Given the description of an element on the screen output the (x, y) to click on. 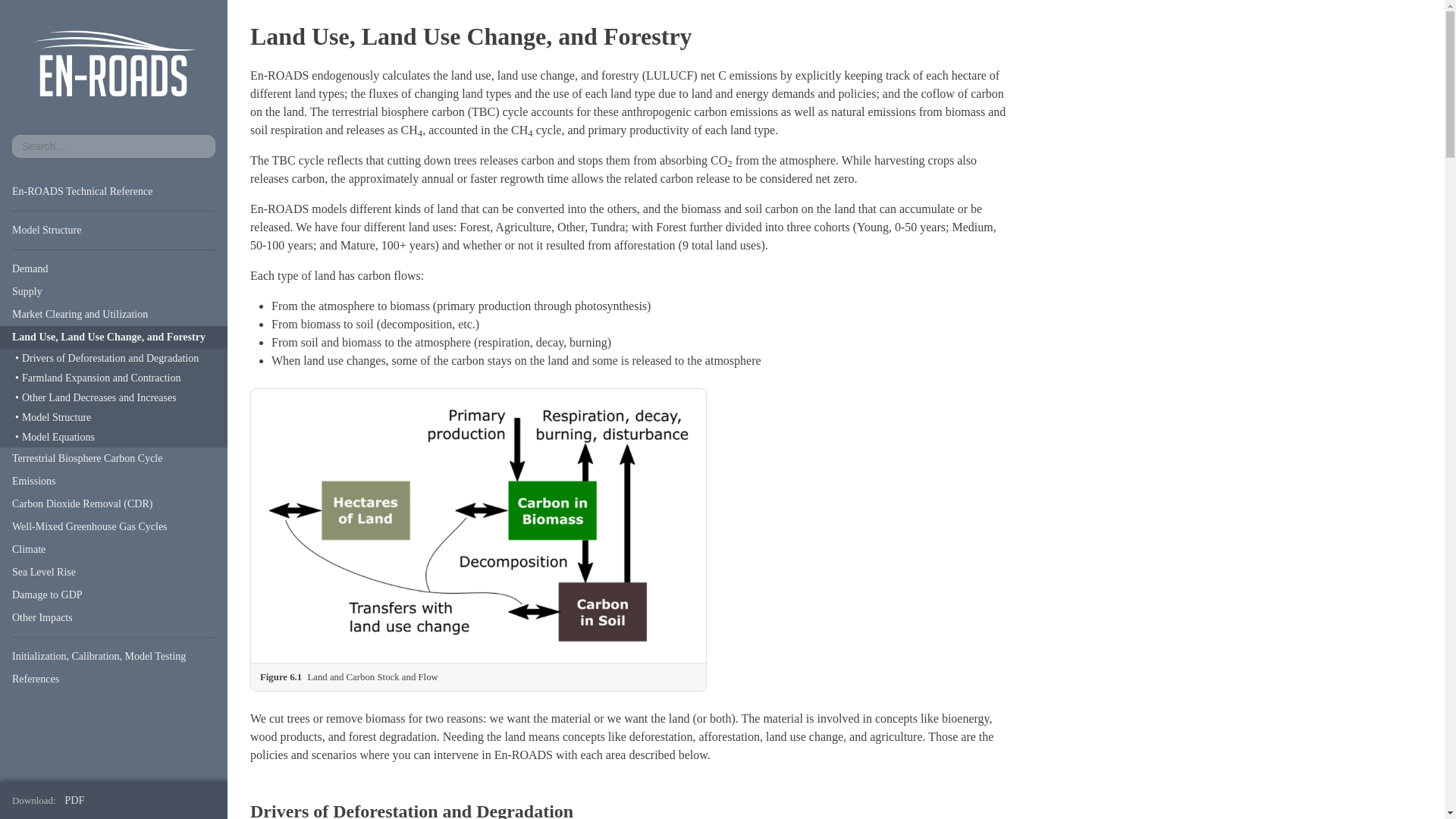
Initialization, Calibration, Model Testing (113, 656)
Sea Level Rise (113, 572)
References (113, 679)
Well-Mixed Greenhouse Gas Cycles (113, 526)
Demand (113, 268)
Land Use, Land Use Change, and Forestry (113, 336)
Model Structure (113, 230)
Market Clearing and Utilization (113, 314)
Supply (113, 291)
Damage to GDP (113, 594)
Climate (113, 549)
PDF (77, 799)
Terrestrial Biosphere Carbon Cycle (113, 458)
En-ROADS Technical Reference (113, 191)
Emissions (113, 481)
